Given the description of an element on the screen output the (x, y) to click on. 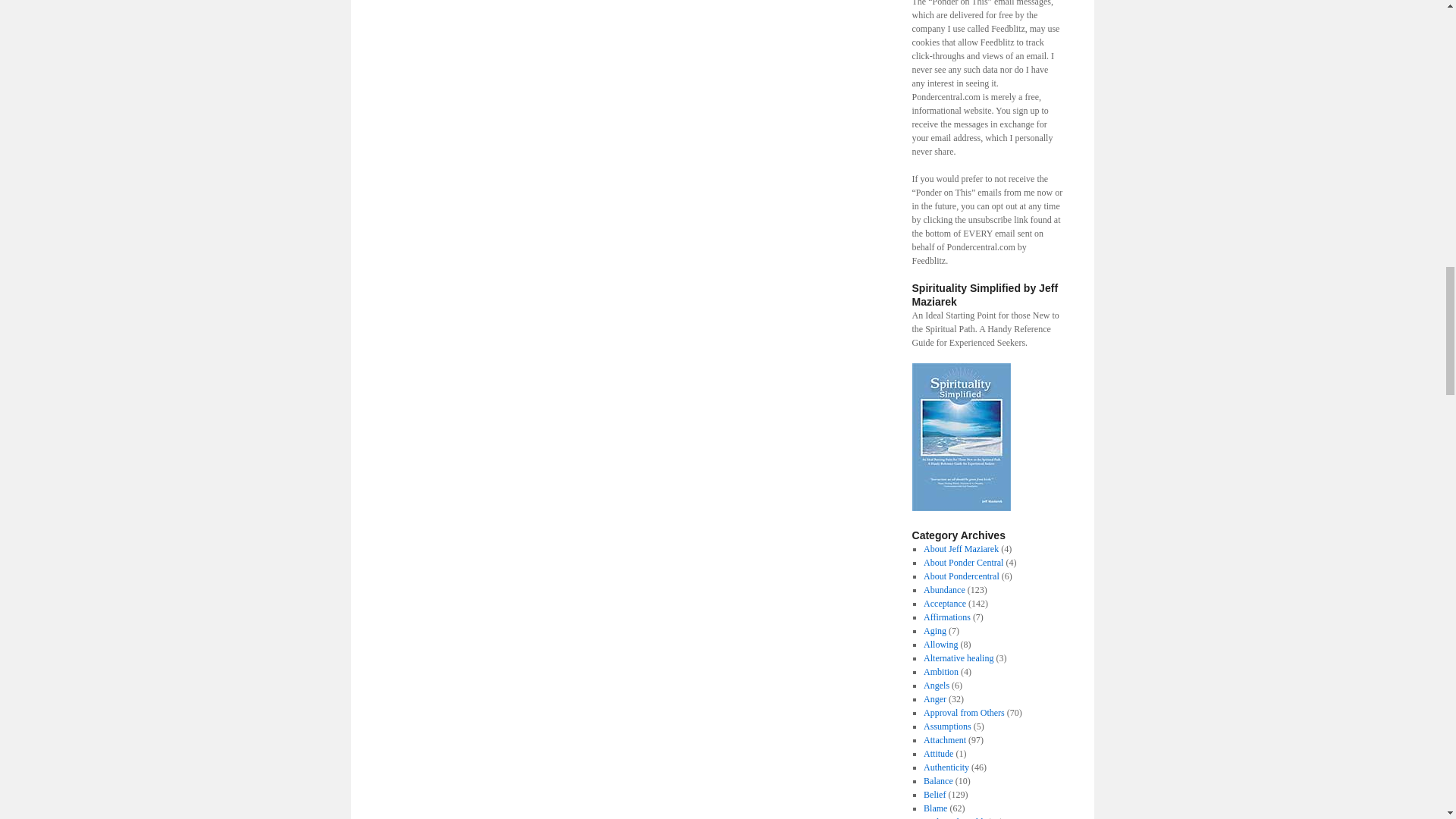
About Jeff Maziarek (960, 548)
Alternative healing (957, 657)
About Pondercentral (960, 575)
Affirmations (947, 616)
About Ponder Central (963, 562)
Acceptance (944, 603)
Allowing (940, 644)
Abundance (944, 589)
Aging (934, 630)
